Given the description of an element on the screen output the (x, y) to click on. 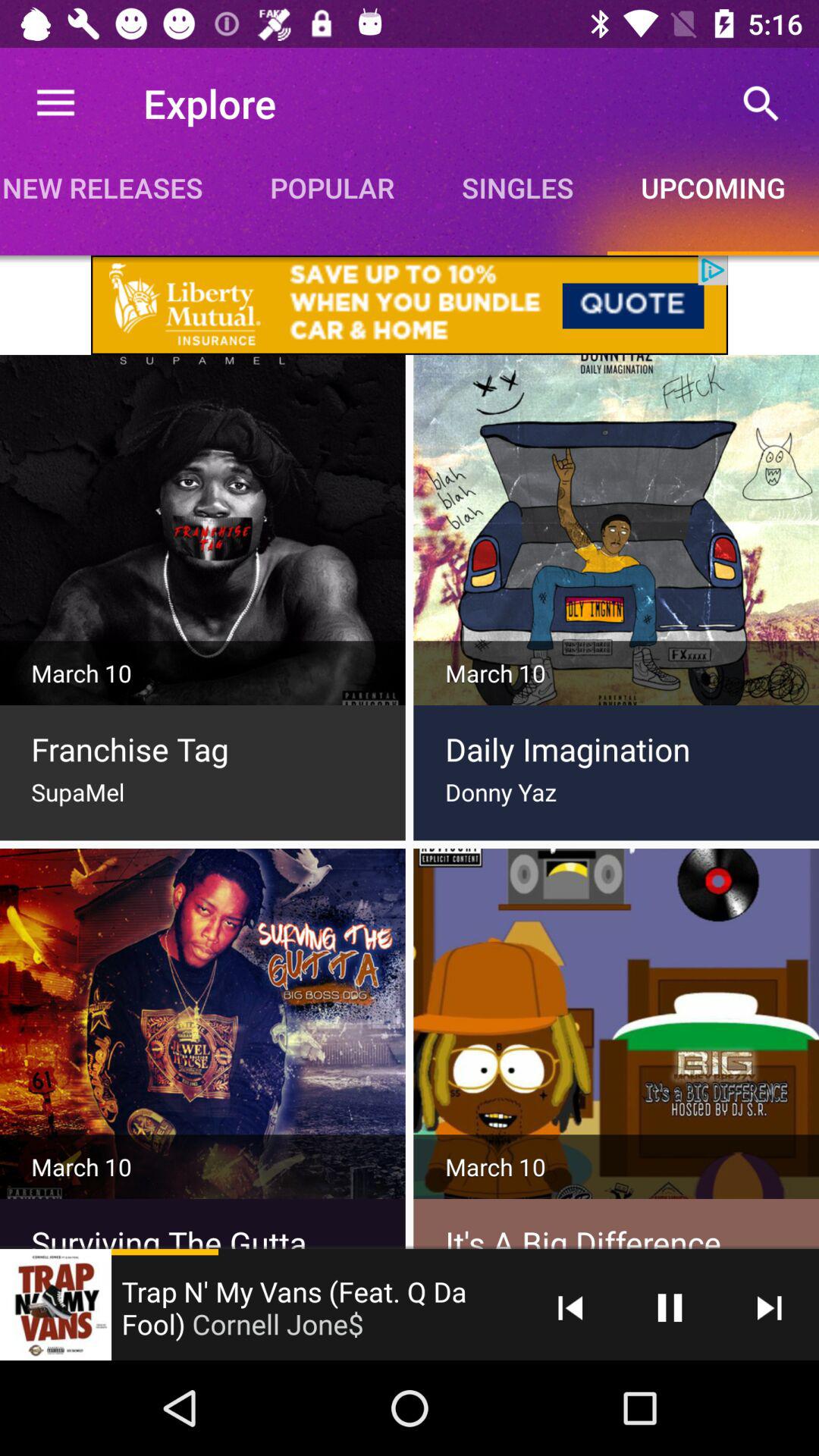
turn off icon next to popular icon (118, 187)
